Given the description of an element on the screen output the (x, y) to click on. 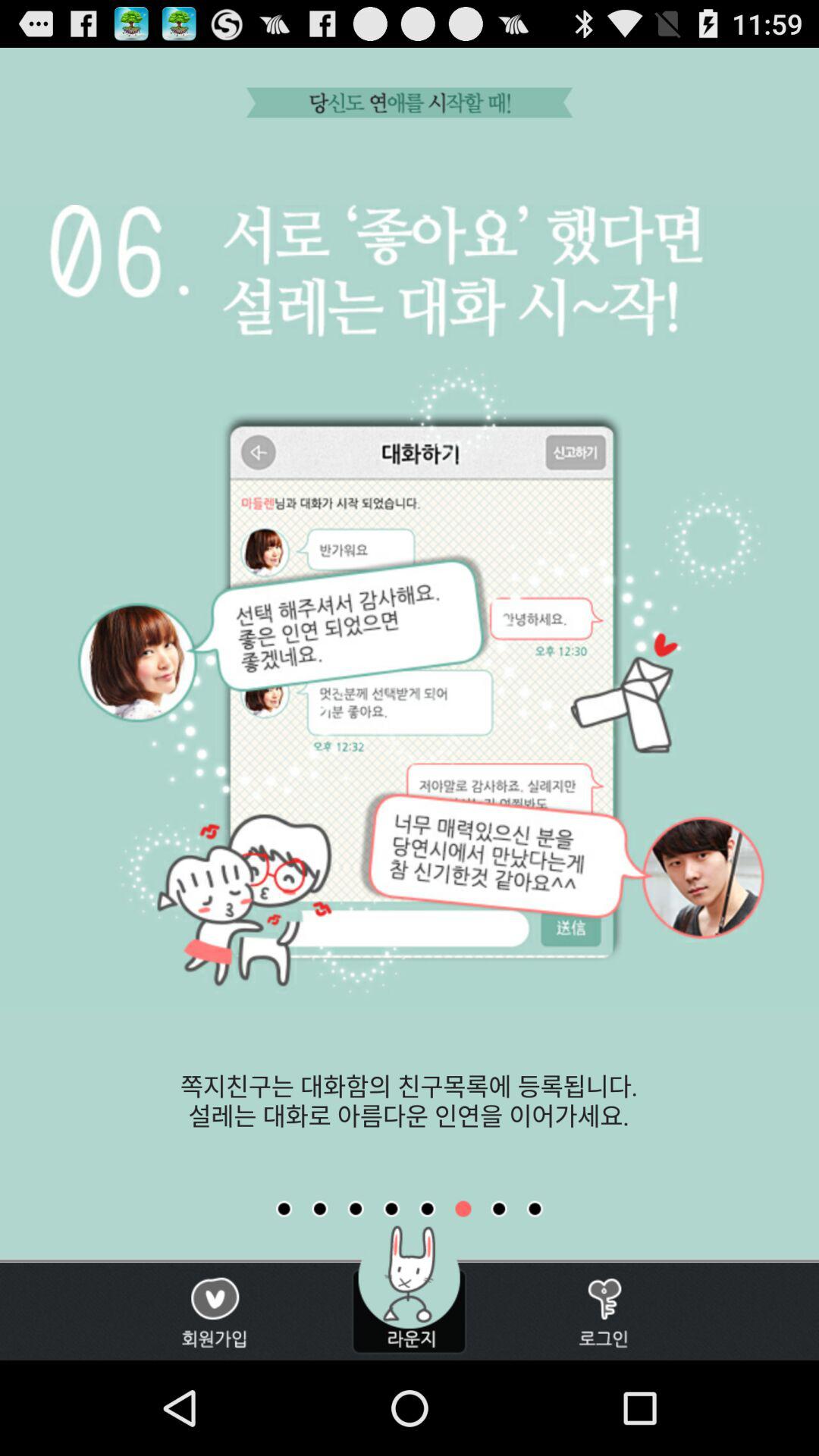
go to previous image (427, 1208)
